Given the description of an element on the screen output the (x, y) to click on. 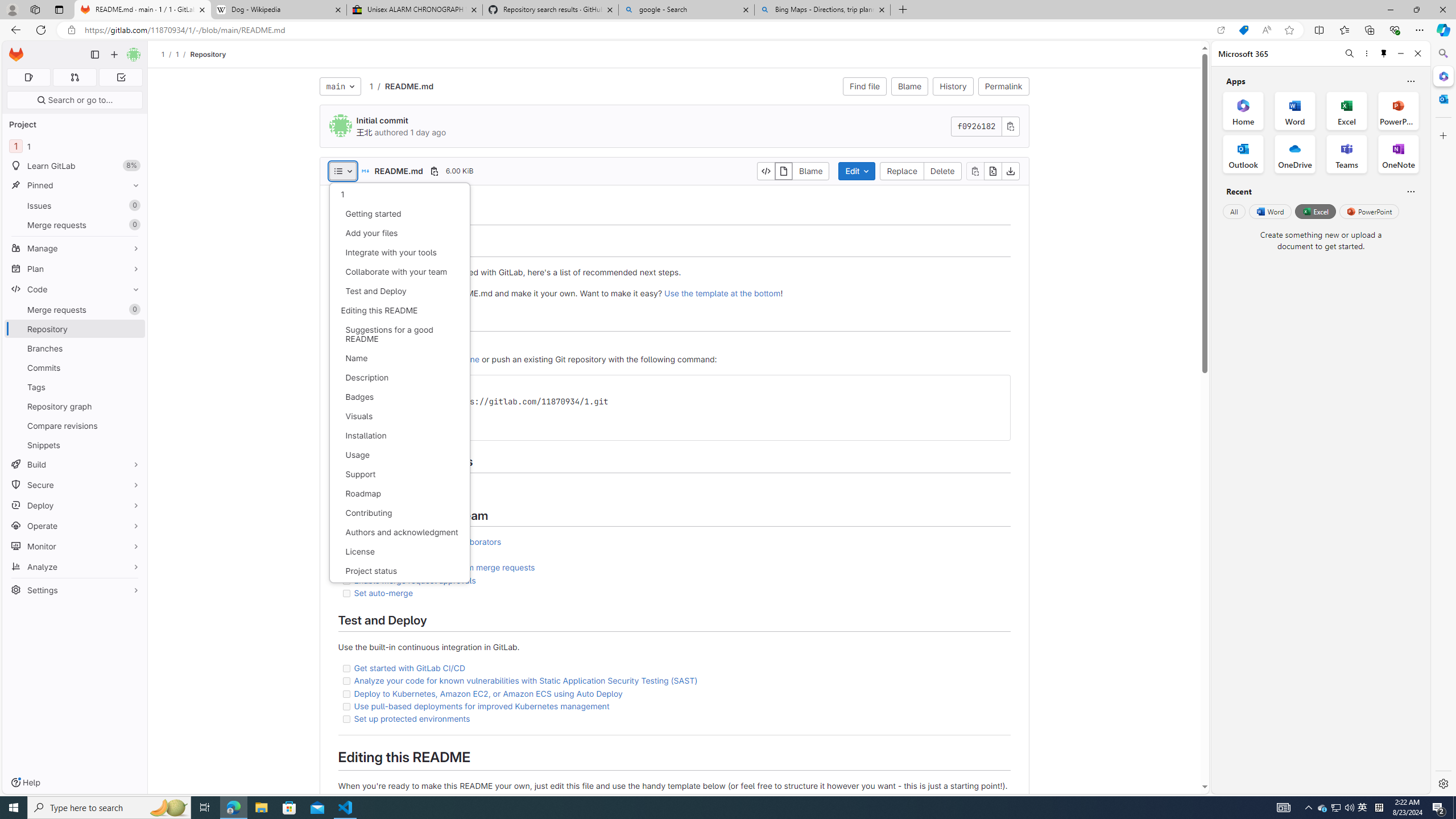
Tags (74, 386)
Installation (399, 435)
Pin Snippets (132, 445)
Test and Deploy (399, 290)
Invite team members and collaborators (673, 541)
Editing this README (399, 310)
Operate (74, 525)
To-Do list 0 (120, 76)
Add your files (399, 233)
Pin Commits (132, 367)
Deploy (74, 505)
Repository graph (74, 406)
Plan (74, 268)
